Given the description of an element on the screen output the (x, y) to click on. 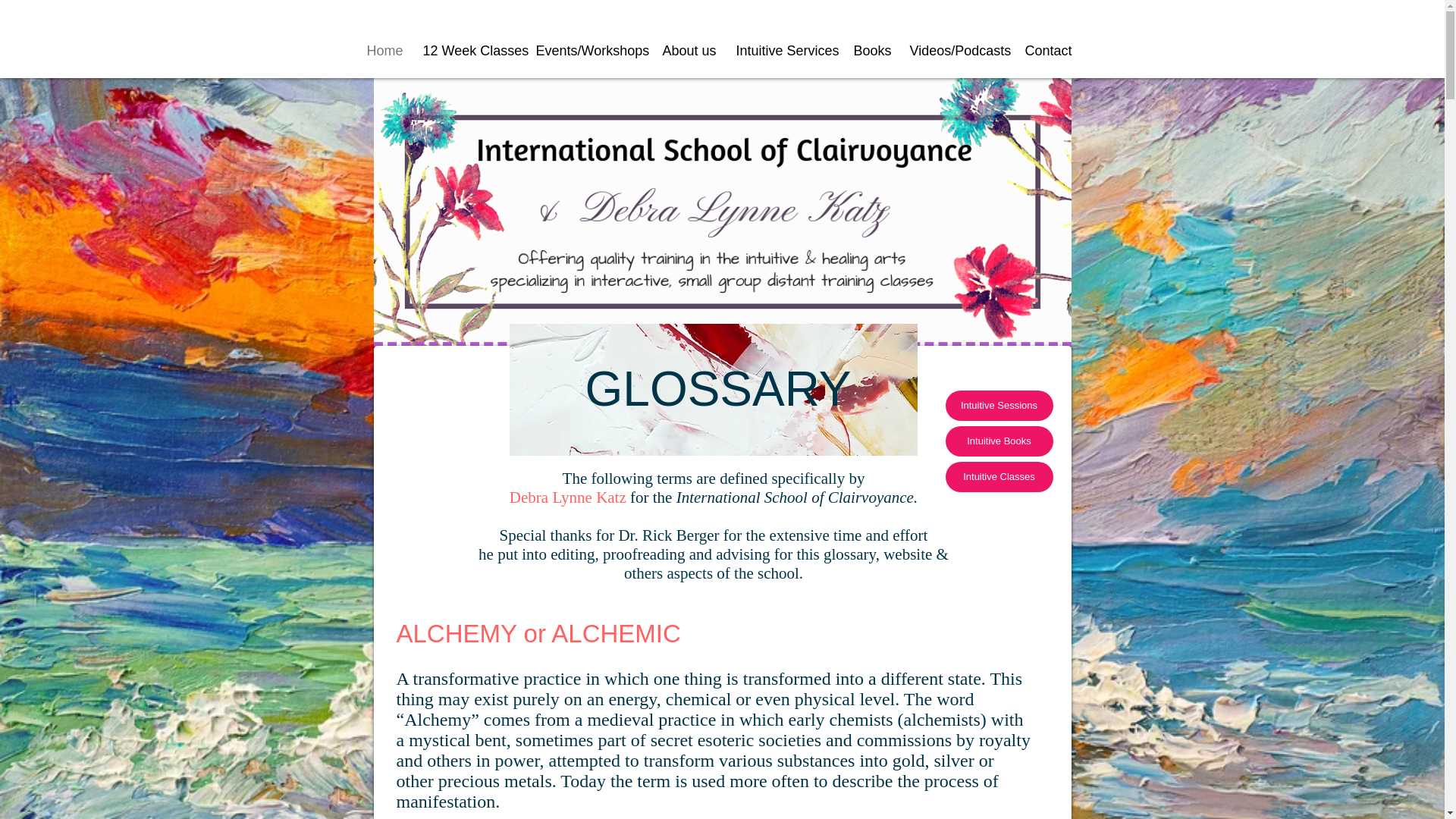
Intuitive Services (784, 51)
Contact (1047, 51)
12 Week Classes (467, 51)
Intuitive Books (998, 440)
Debra Lynne Katz (567, 497)
About us (686, 51)
Books (869, 51)
Home (382, 51)
